Given the description of an element on the screen output the (x, y) to click on. 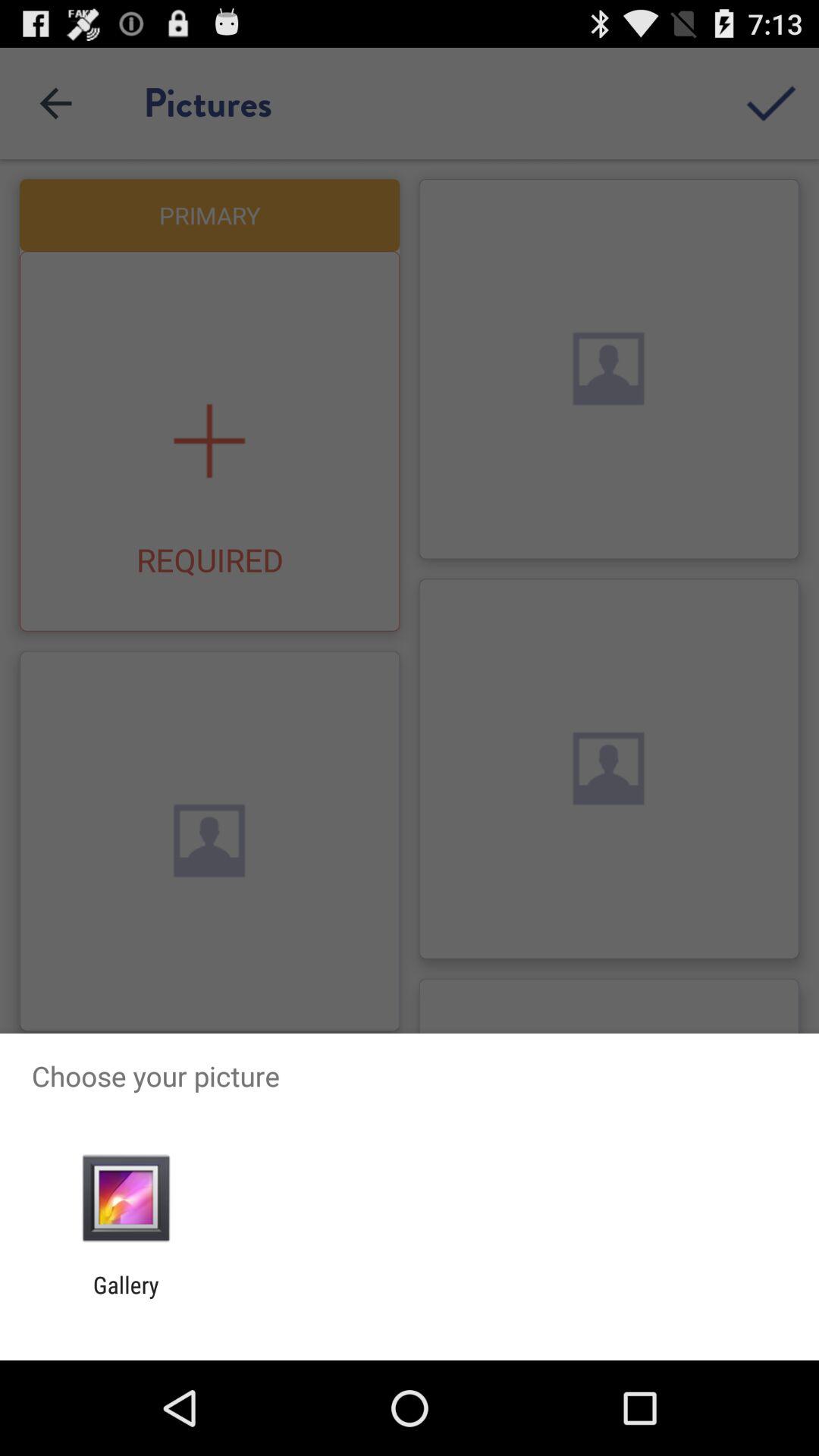
turn on the app below choose your picture app (126, 1198)
